Given the description of an element on the screen output the (x, y) to click on. 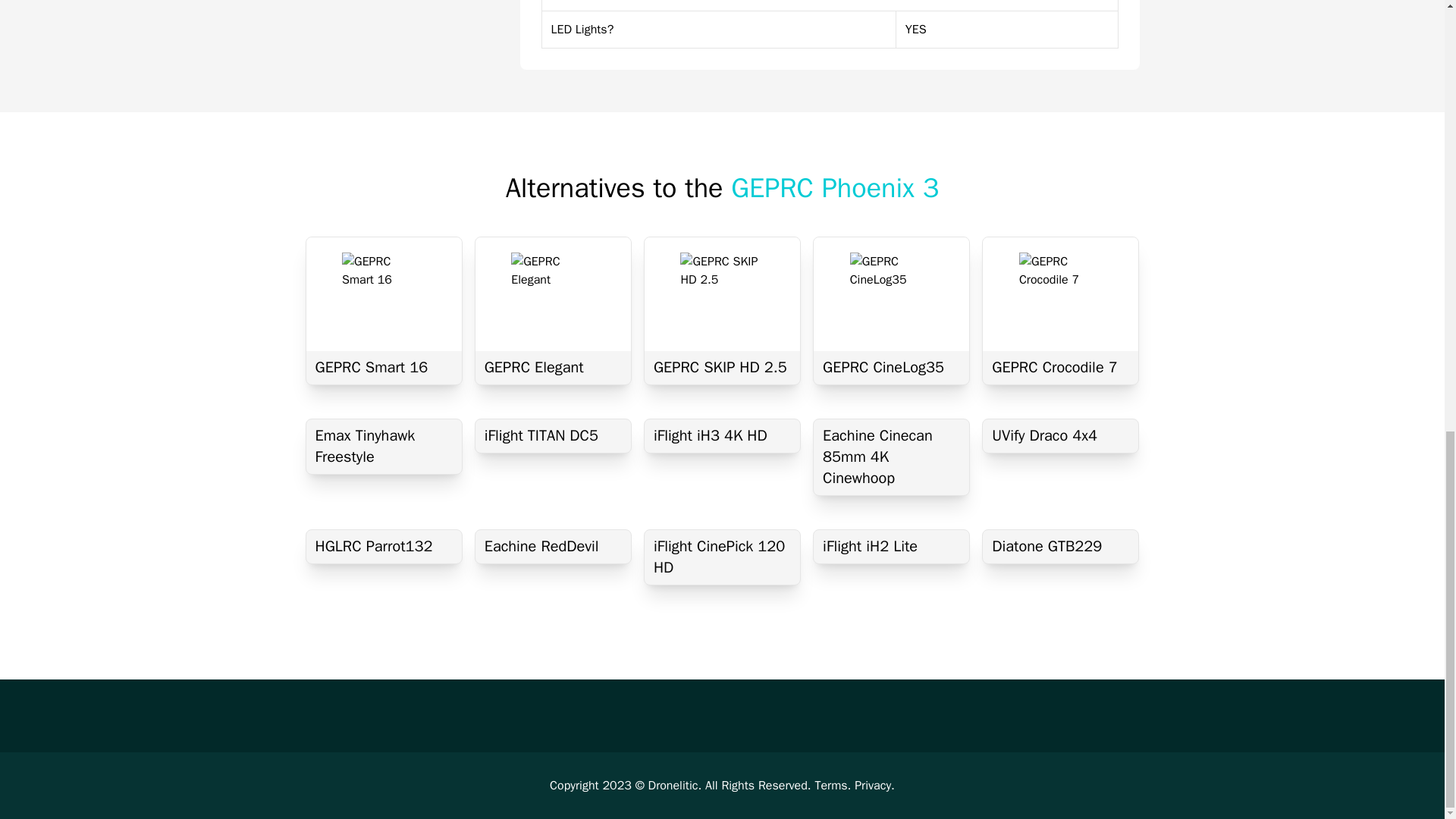
Emax Tinyhawk Freestyle (383, 446)
GEPRC SKIP HD 2.5 (722, 367)
GEPRC CineLog35 (891, 367)
iFlight TITAN DC5 (553, 435)
Eachine Cinecan 85mm 4K Cinewhoop (891, 457)
GEPRC Crocodile 7 (1060, 367)
GEPRC Elegant (553, 367)
UVify Draco 4x4 (1060, 435)
iFlight iH3 4K HD (722, 435)
HGLRC Parrot132 (383, 546)
